Given the description of an element on the screen output the (x, y) to click on. 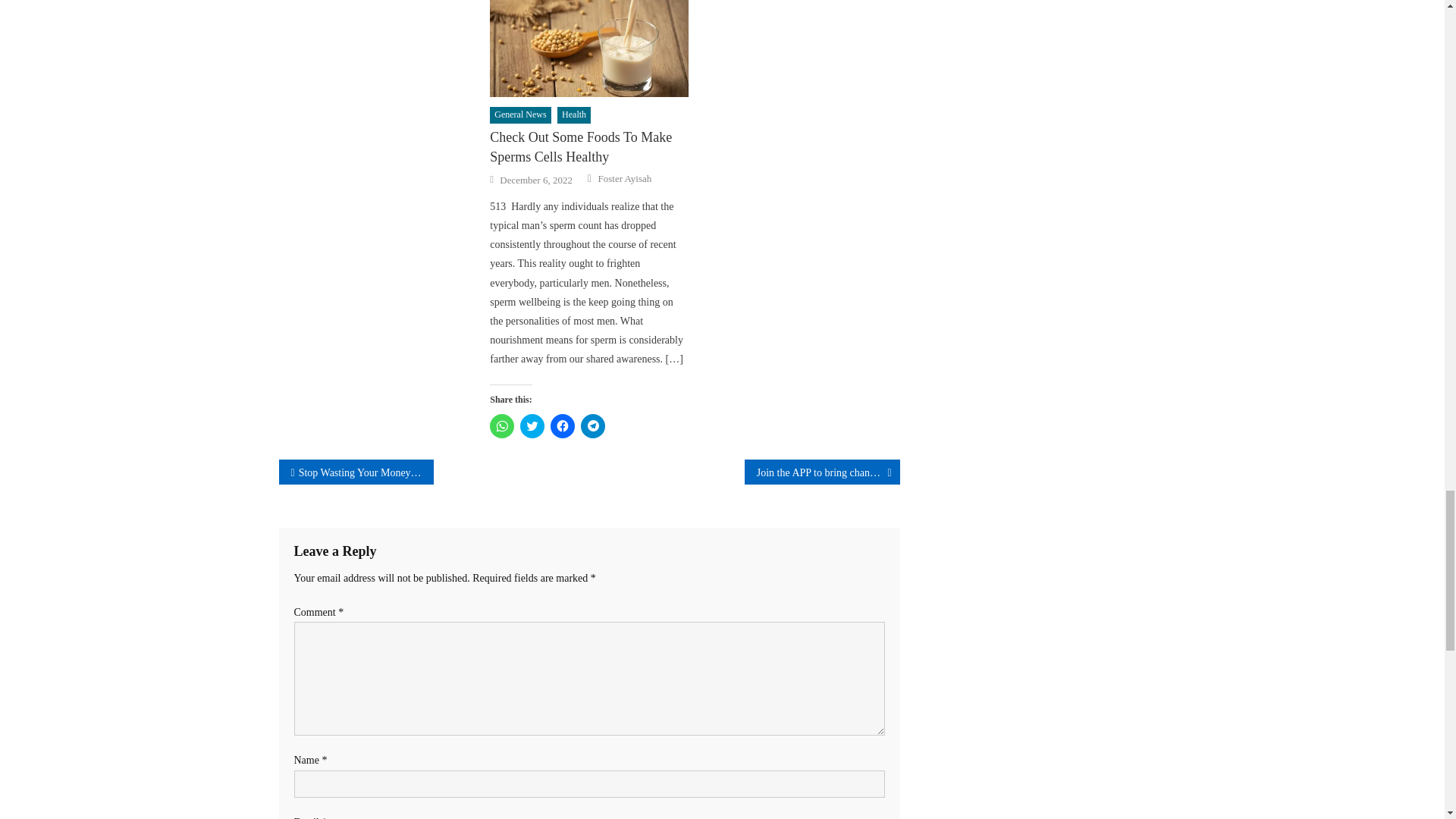
Check Out Some Foods To Make Sperms Cells Healthy (588, 48)
General News (519, 115)
Health (574, 115)
